Given the description of an element on the screen output the (x, y) to click on. 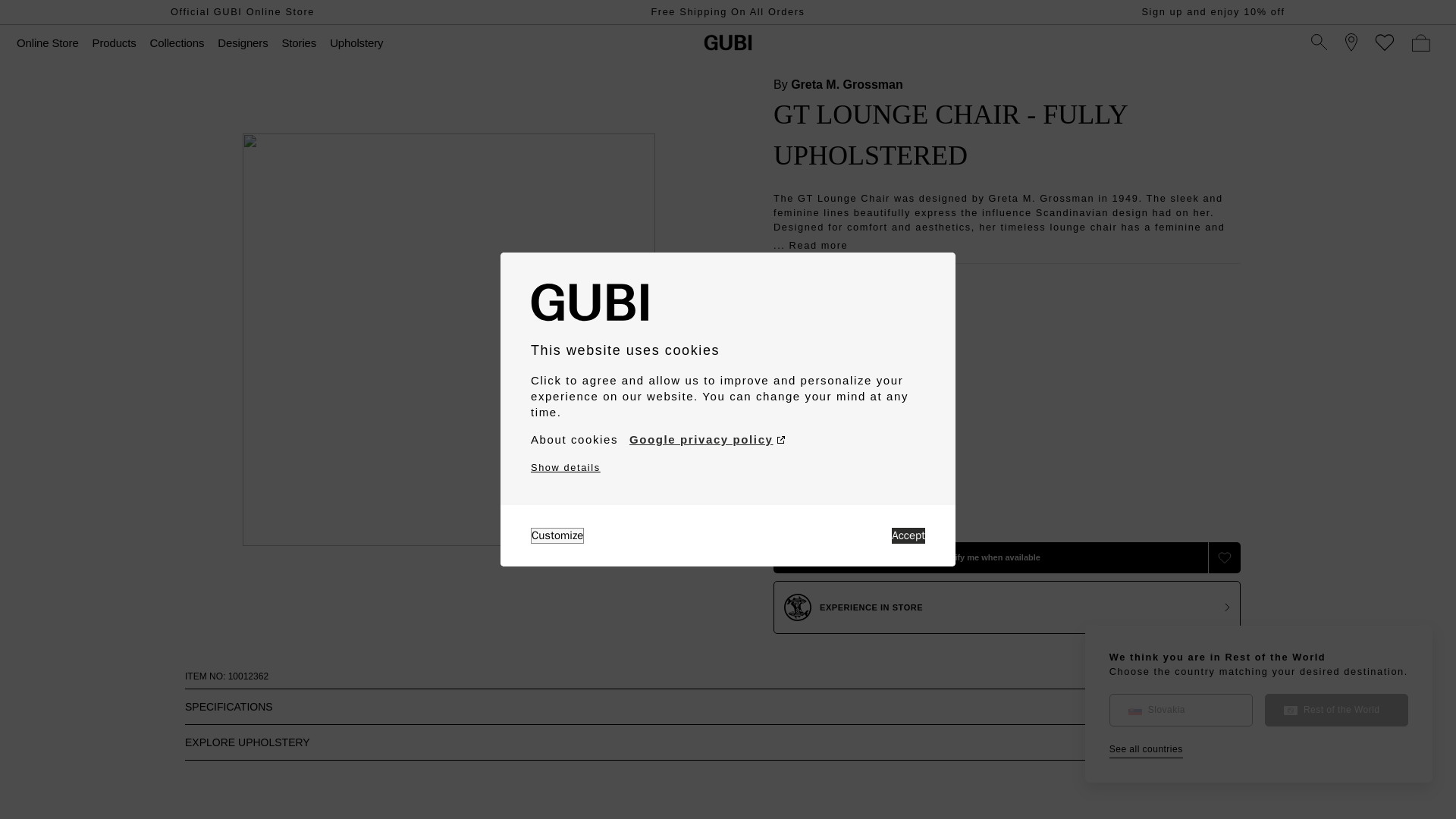
Google privacy policy (707, 439)
About cookies (574, 439)
Show details (565, 467)
